Given the description of an element on the screen output the (x, y) to click on. 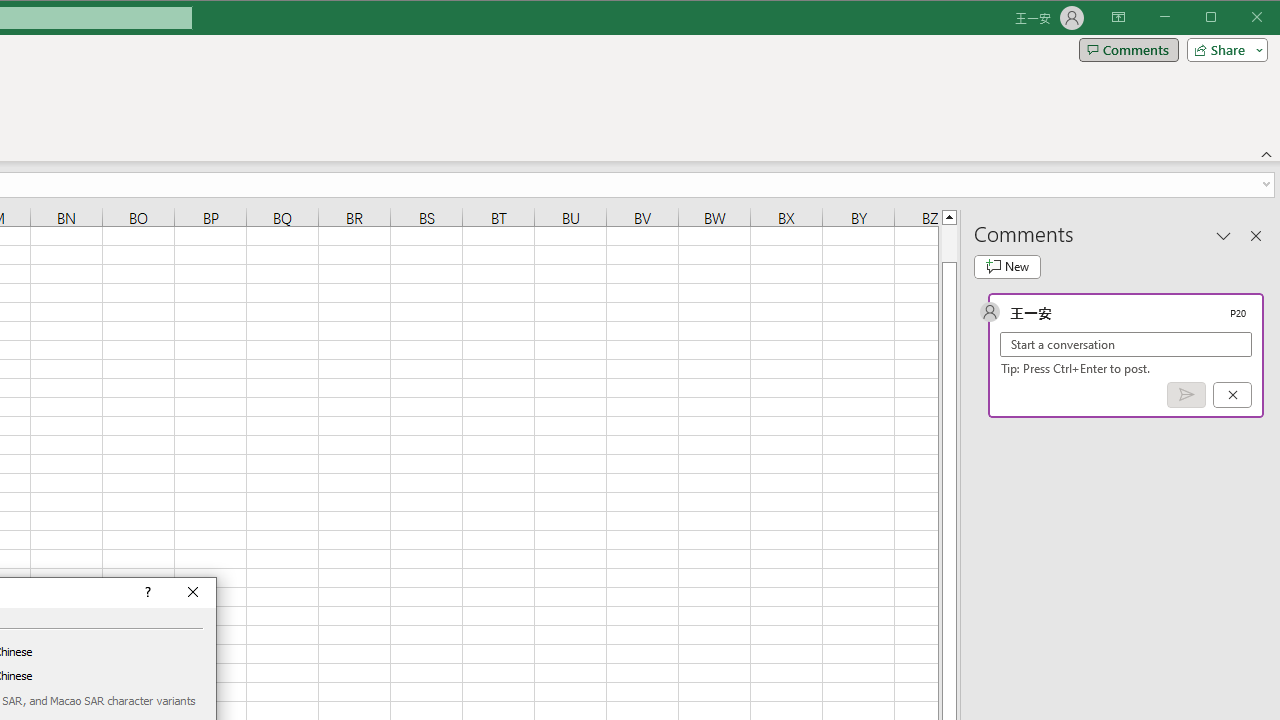
New comment (1007, 266)
